Given the description of an element on the screen output the (x, y) to click on. 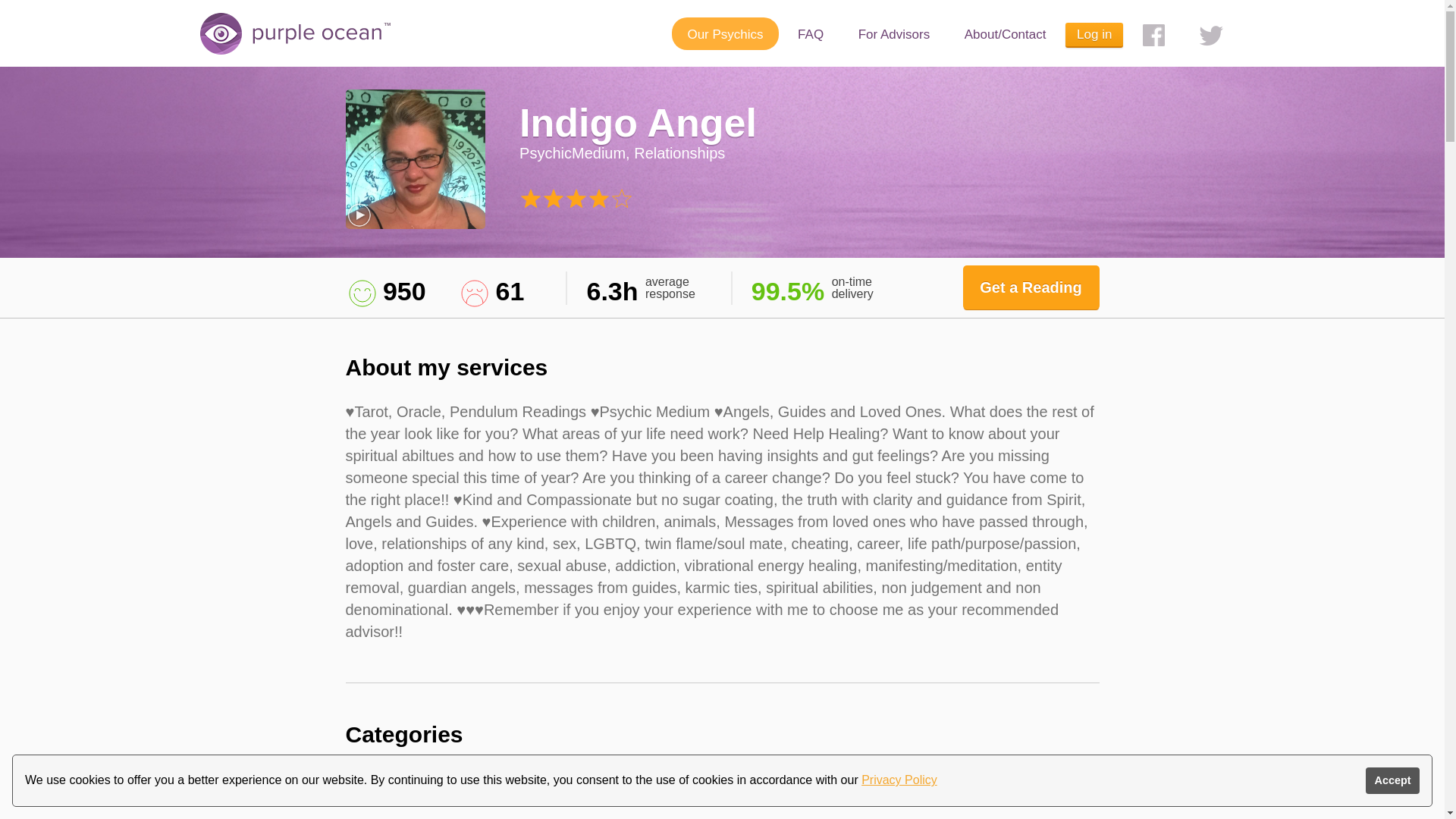
Accept (1392, 780)
FAQ (810, 33)
Privacy Policy (899, 780)
Our Psychics (724, 33)
Get a Reading (1030, 287)
Log in (1093, 34)
For Advisors (893, 33)
TM (319, 34)
